Given the description of an element on the screen output the (x, y) to click on. 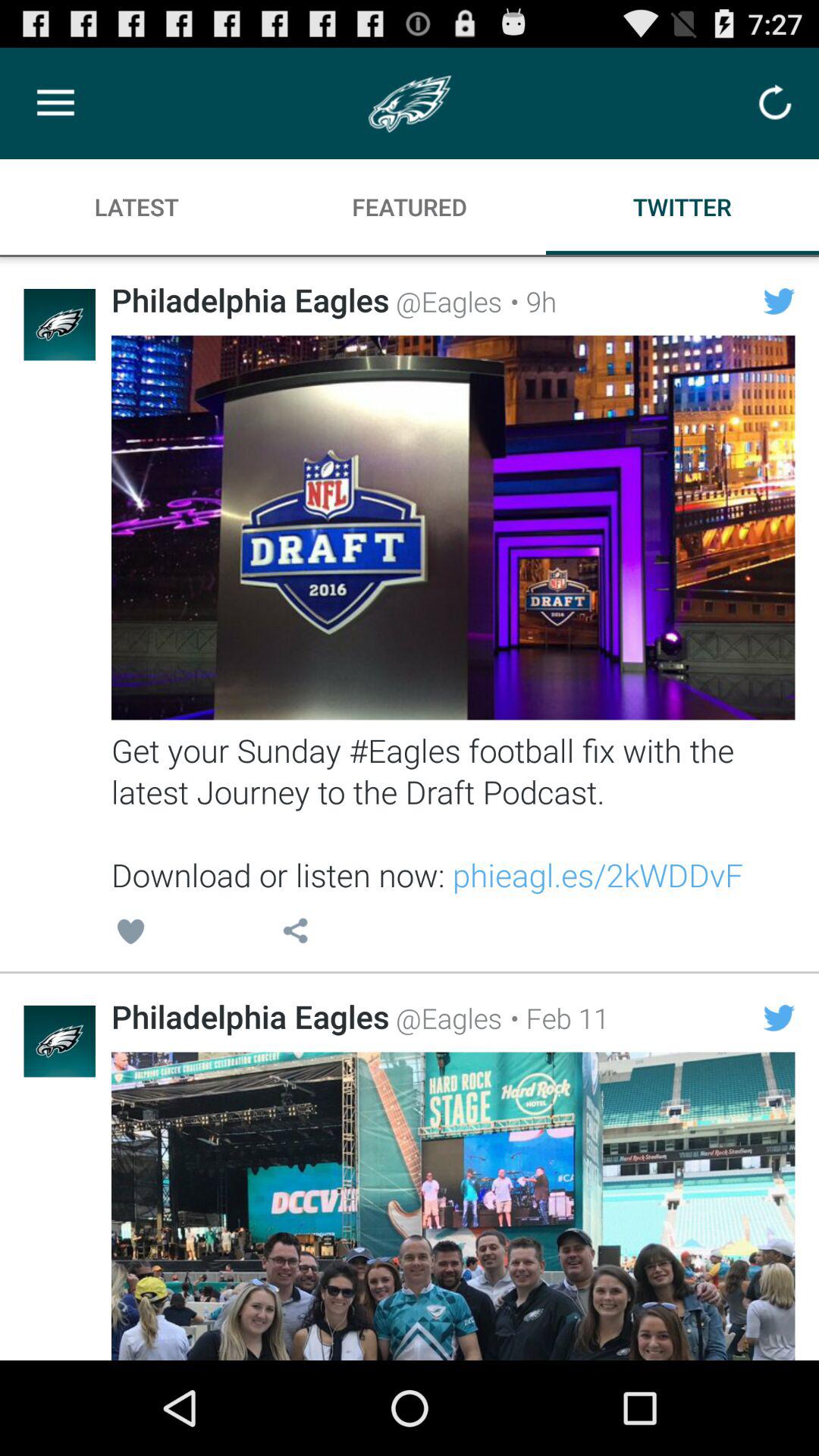
image that may or may not contain interactive link to nfl draft (453, 527)
